Given the description of an element on the screen output the (x, y) to click on. 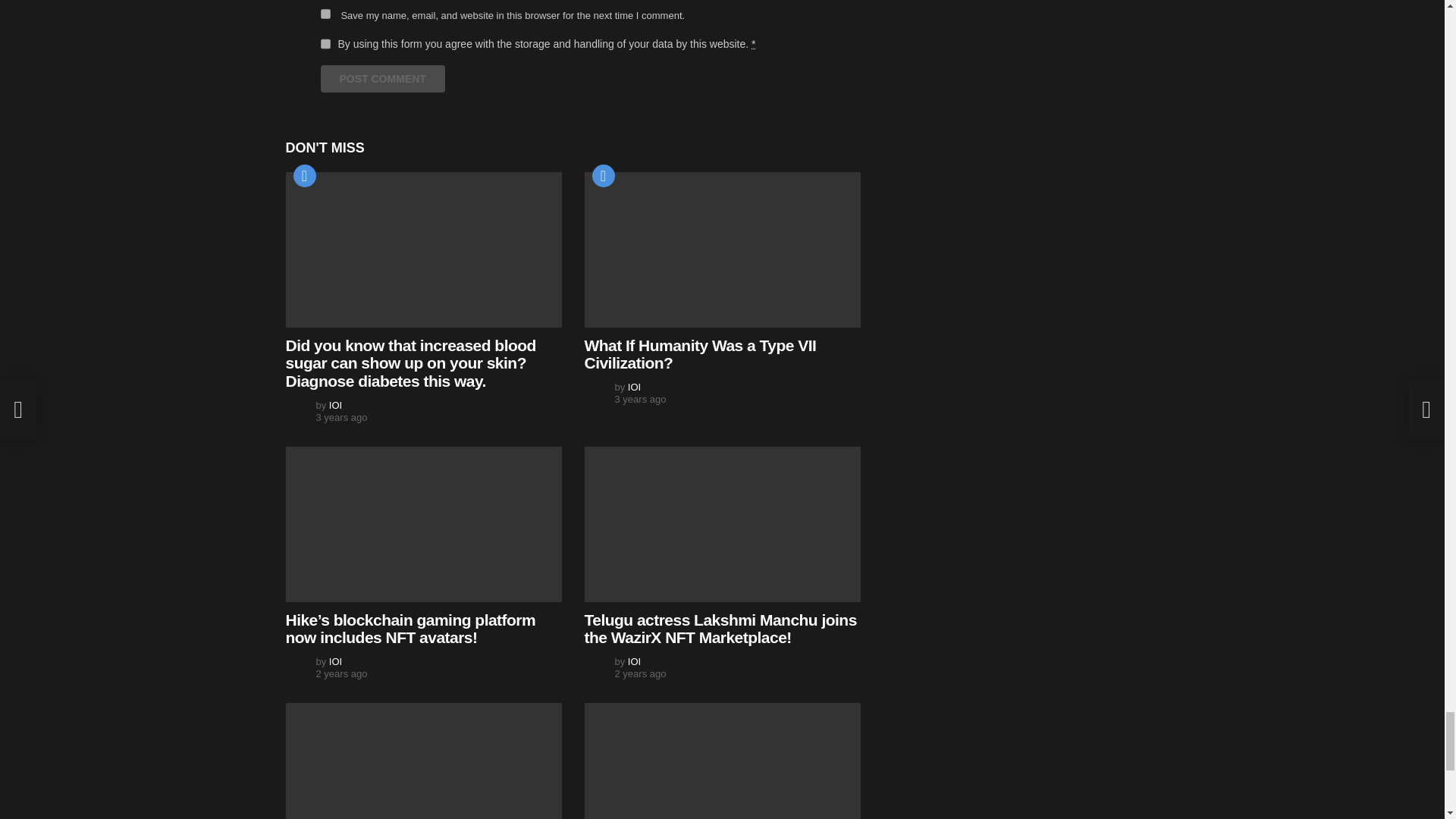
1 (325, 43)
Post Comment (382, 78)
yes (325, 13)
